Given the description of an element on the screen output the (x, y) to click on. 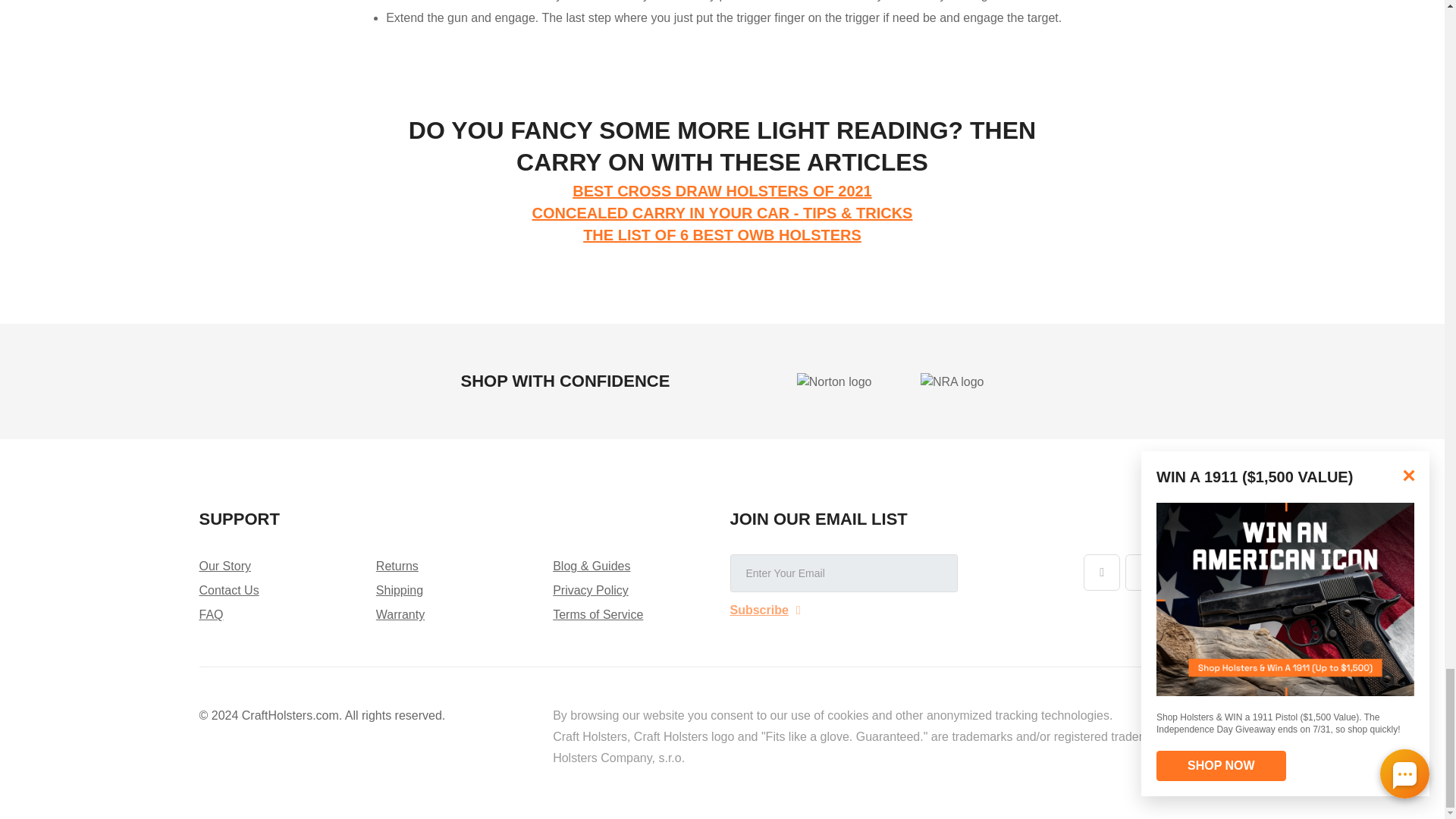
BEST CROSS DRAW HOLSTERS OF 2021 (722, 190)
